Given the description of an element on the screen output the (x, y) to click on. 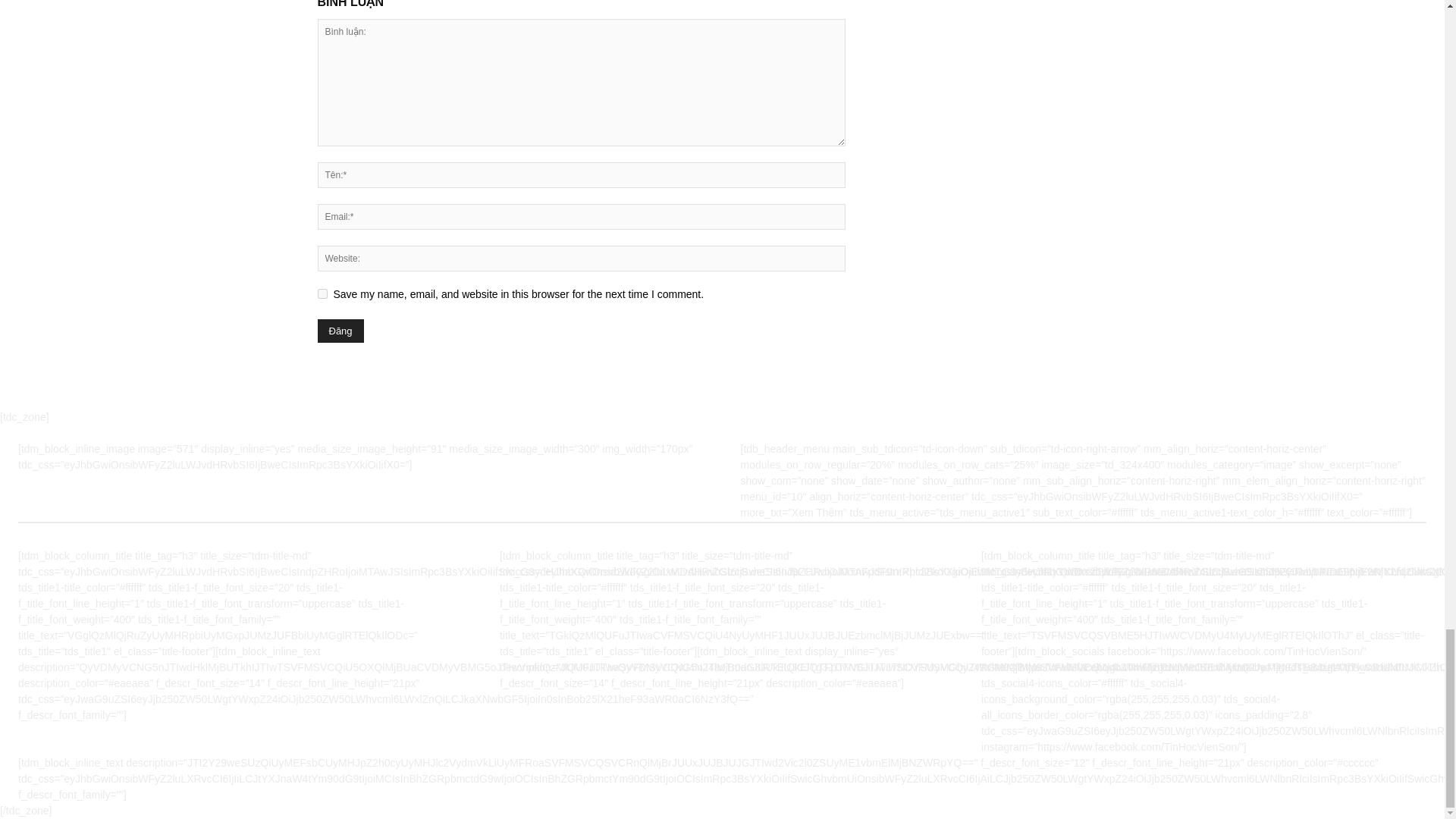
yes (321, 293)
